Given the description of an element on the screen output the (x, y) to click on. 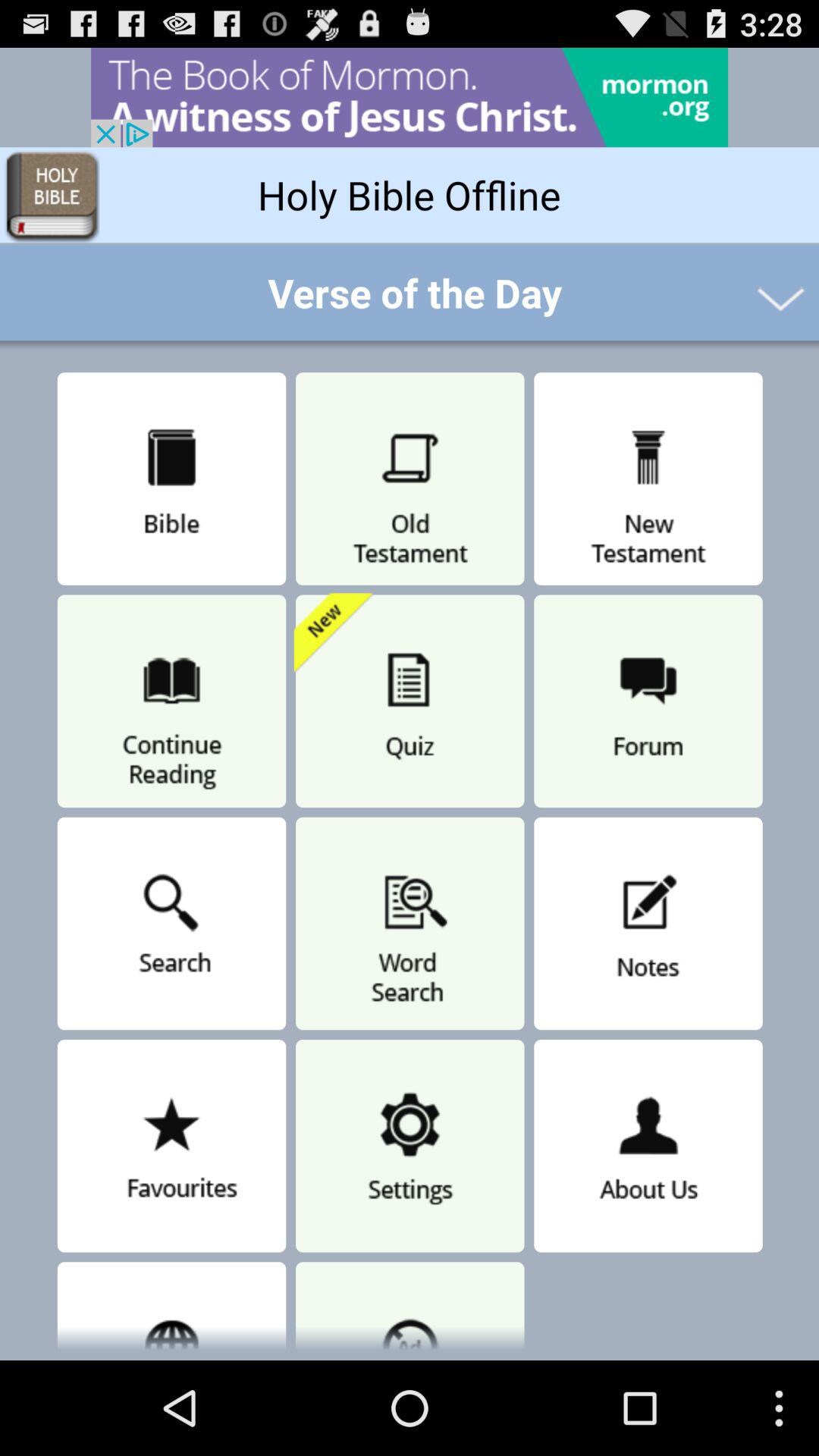
select the icon below the settings icon (410, 1307)
select bible (171, 478)
select about us icon (648, 1145)
select the icon forum (648, 701)
select holy bible offline button (409, 195)
select the option next to favorites (410, 1145)
click on the option which says new testament (648, 478)
